Given the description of an element on the screen output the (x, y) to click on. 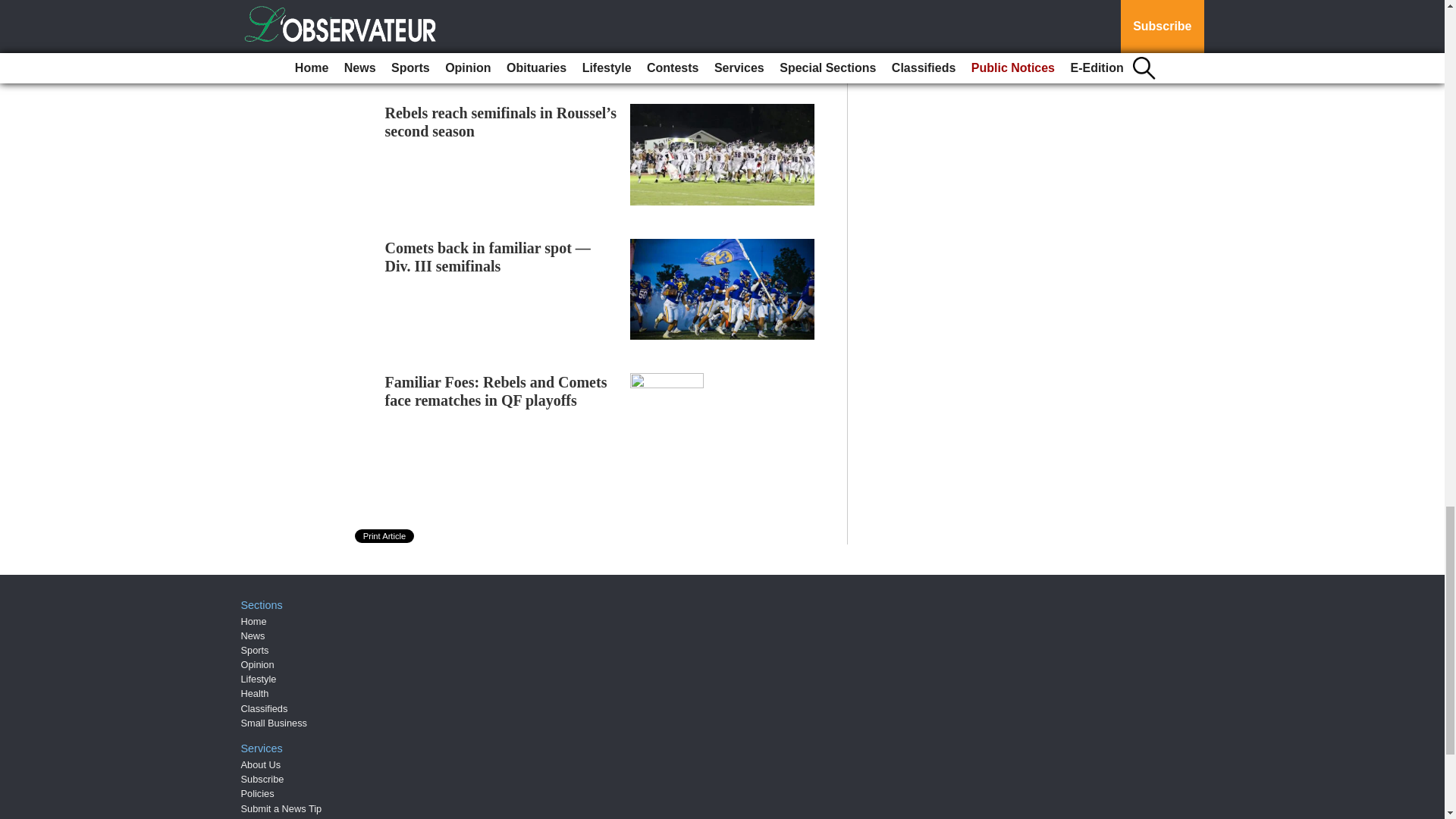
Comets and Rebels to vie for state titles this week (495, 2)
Print Article (384, 535)
Comets and Rebels to vie for state titles this week (495, 2)
